Given the description of an element on the screen output the (x, y) to click on. 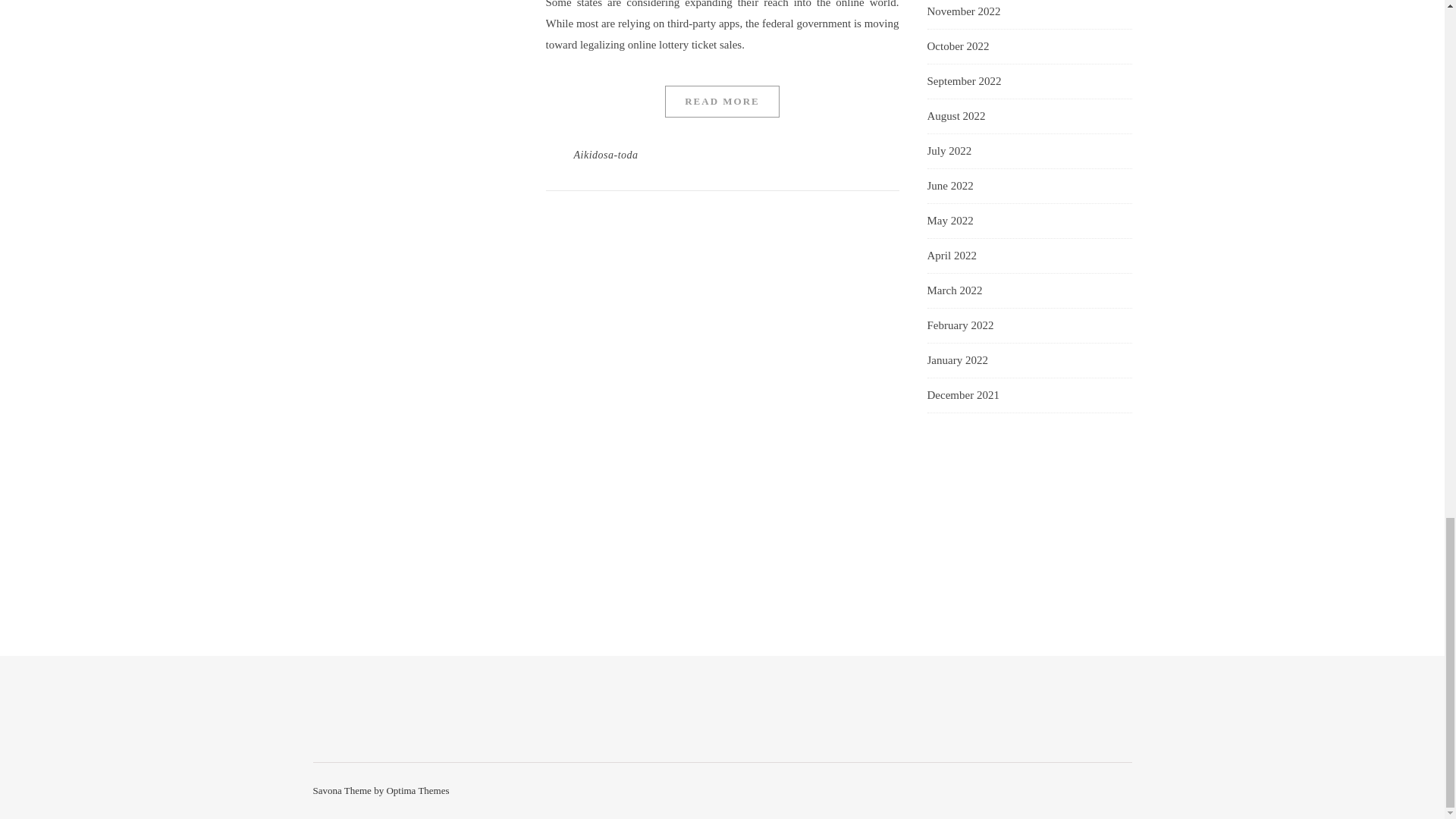
READ MORE (721, 101)
Posts by Aikidosa-toda (605, 155)
Aikidosa-toda (605, 155)
